Given the description of an element on the screen output the (x, y) to click on. 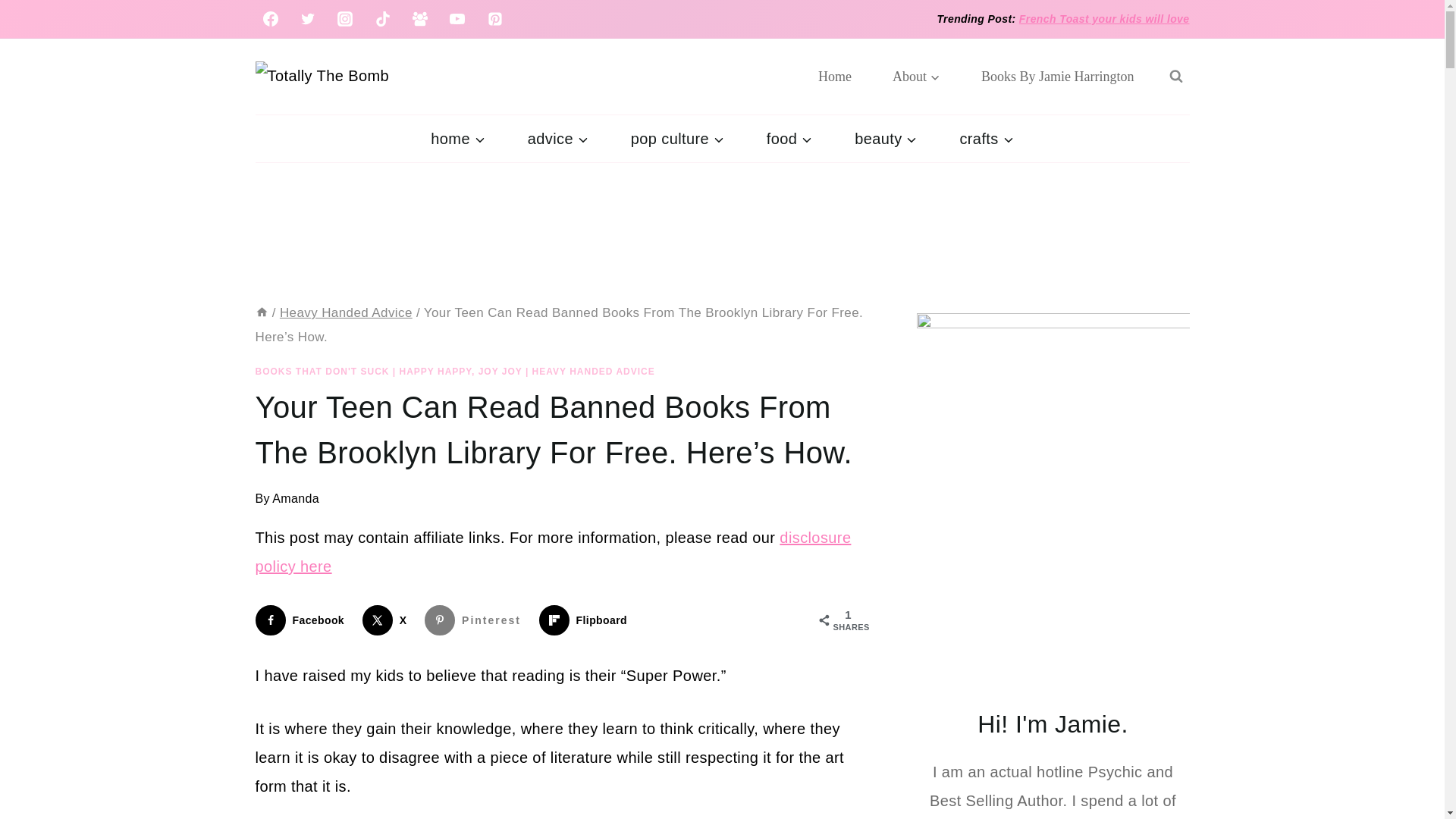
Home (260, 312)
pop culture (677, 138)
Share on Flipboard (585, 620)
About (916, 76)
French Toast your kids will love (1104, 19)
Home (834, 76)
Share on Facebook (302, 620)
advice (558, 138)
Books By Jamie Harrington (1057, 76)
home (457, 138)
